Given the description of an element on the screen output the (x, y) to click on. 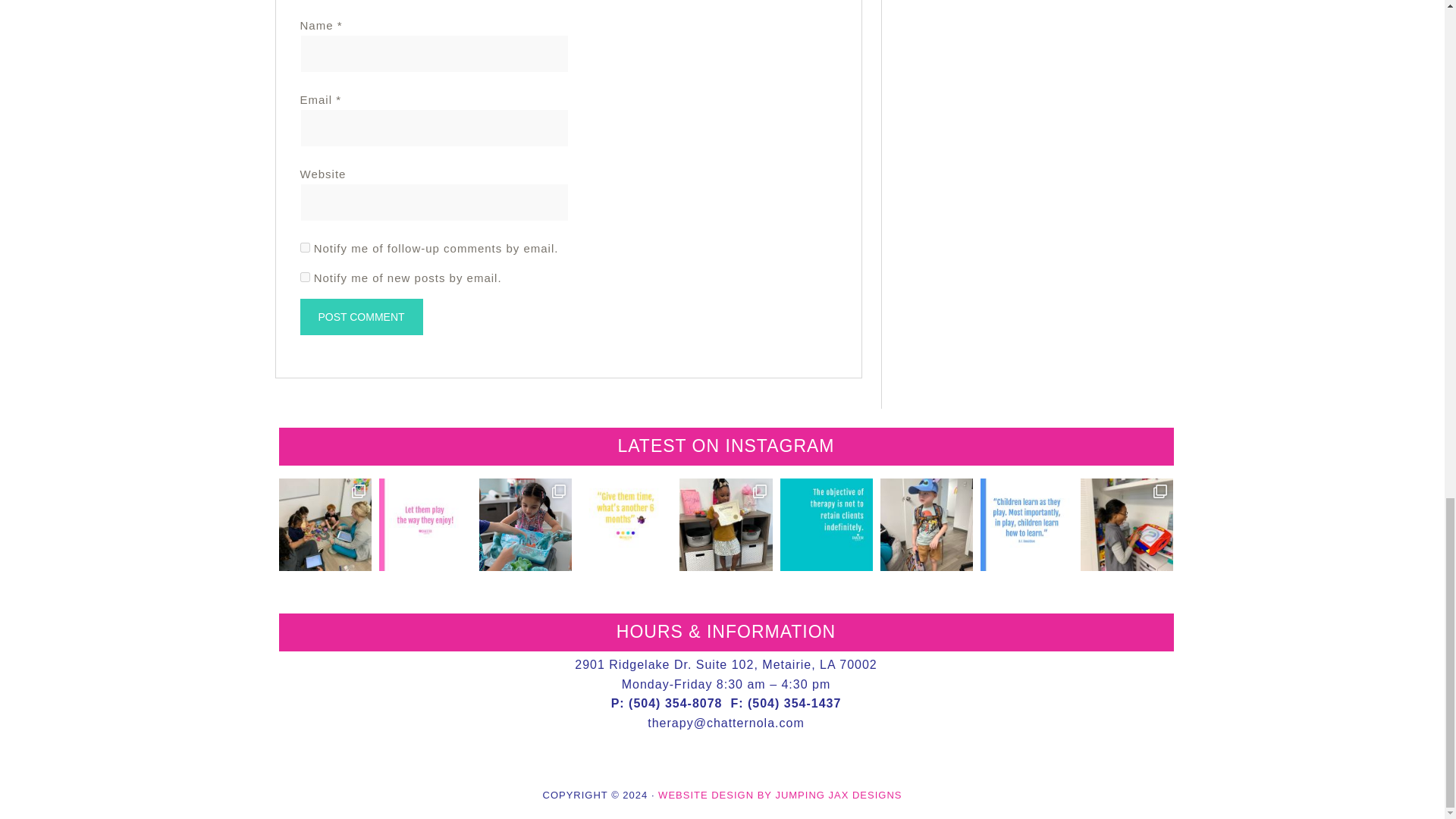
WEBSITE DESIGN BY JUMPING JAX DESIGNS (779, 794)
subscribe (304, 247)
Post Comment (361, 316)
Post Comment (361, 316)
subscribe (304, 276)
